Given the description of an element on the screen output the (x, y) to click on. 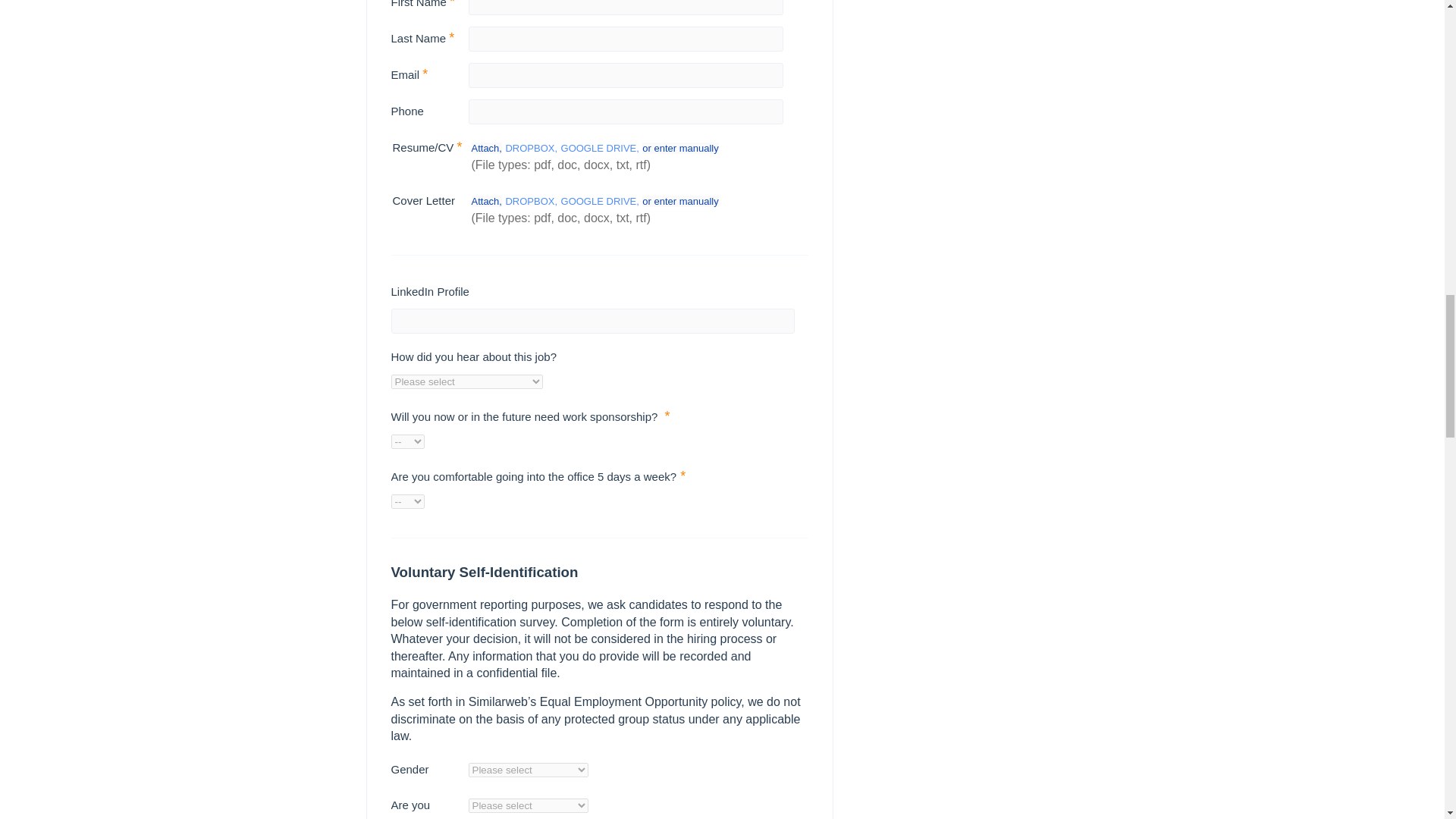
or enter manually (679, 147)
GOOGLE DRIVE (599, 201)
or enter manually (679, 201)
DROPBOX (531, 201)
Attach (486, 147)
Attach (486, 201)
GOOGLE DRIVE (599, 147)
DROPBOX (531, 147)
